Given the description of an element on the screen output the (x, y) to click on. 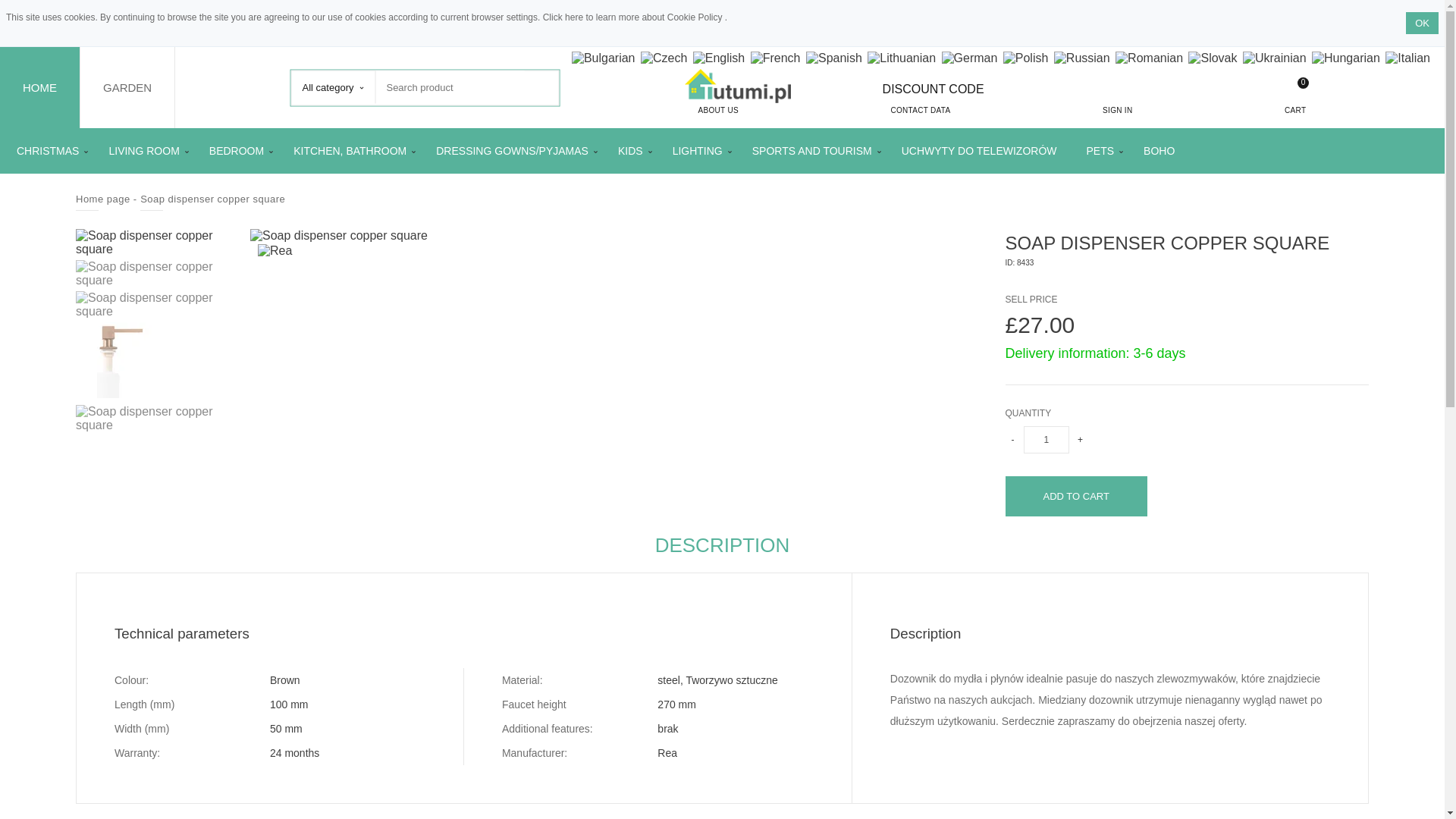
Romanian (1148, 58)
Italian (1407, 58)
Bulgarian (603, 58)
CONTACT DATA (919, 100)
SIGN IN (1117, 99)
Spanish (833, 58)
1 (1045, 439)
GARDEN (127, 86)
Cookie Policy (695, 17)
CHRISTMAS (47, 150)
